Given the description of an element on the screen output the (x, y) to click on. 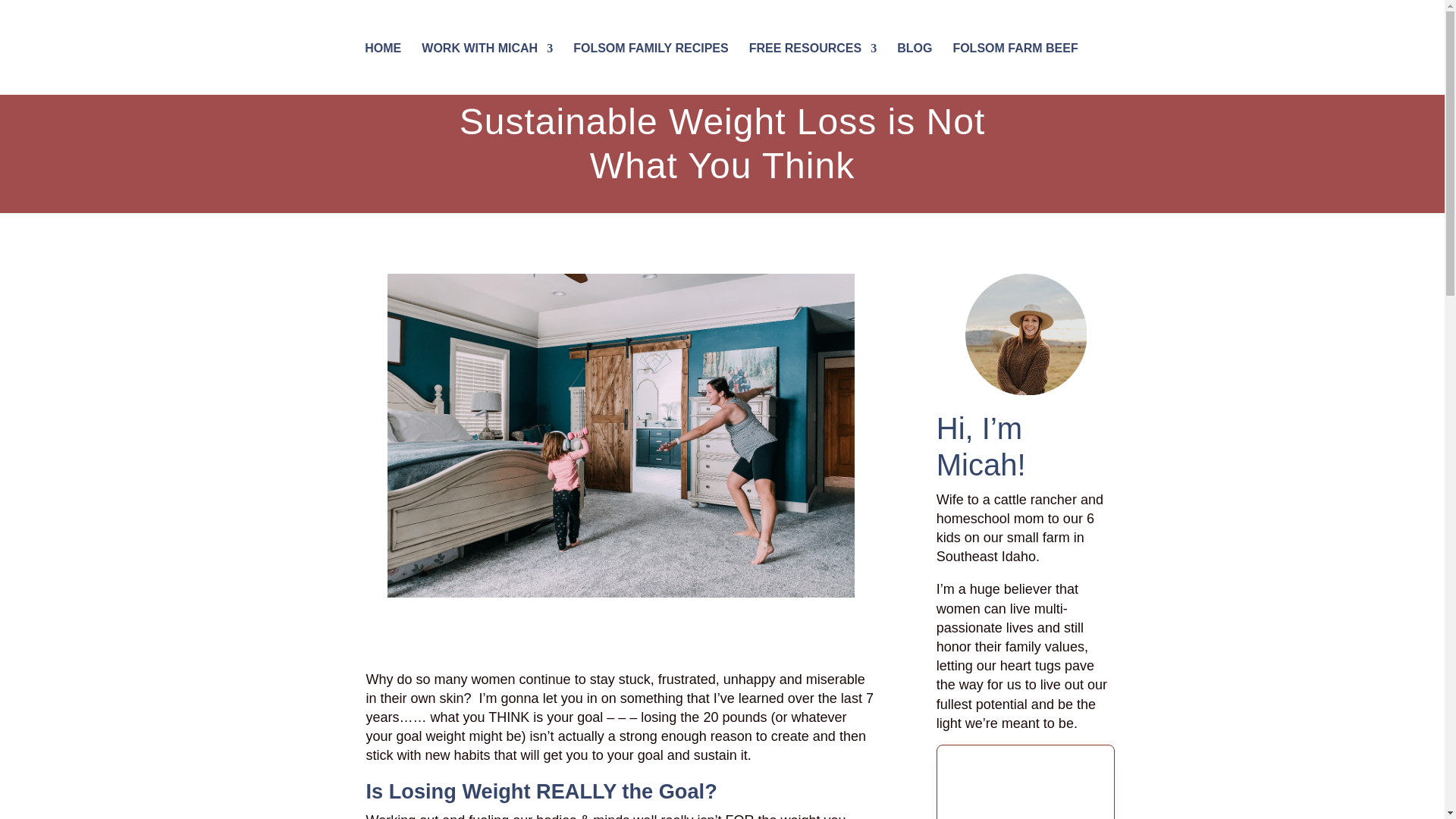
FOLSOM FAMILY RECIPES (650, 56)
WORK WITH MICAH (487, 56)
FREE RESOURCES (812, 56)
HOME (383, 56)
FOLSOM FARM BEEF (1014, 56)
BLOG (913, 56)
Micah Headshot (1024, 333)
